Given the description of an element on the screen output the (x, y) to click on. 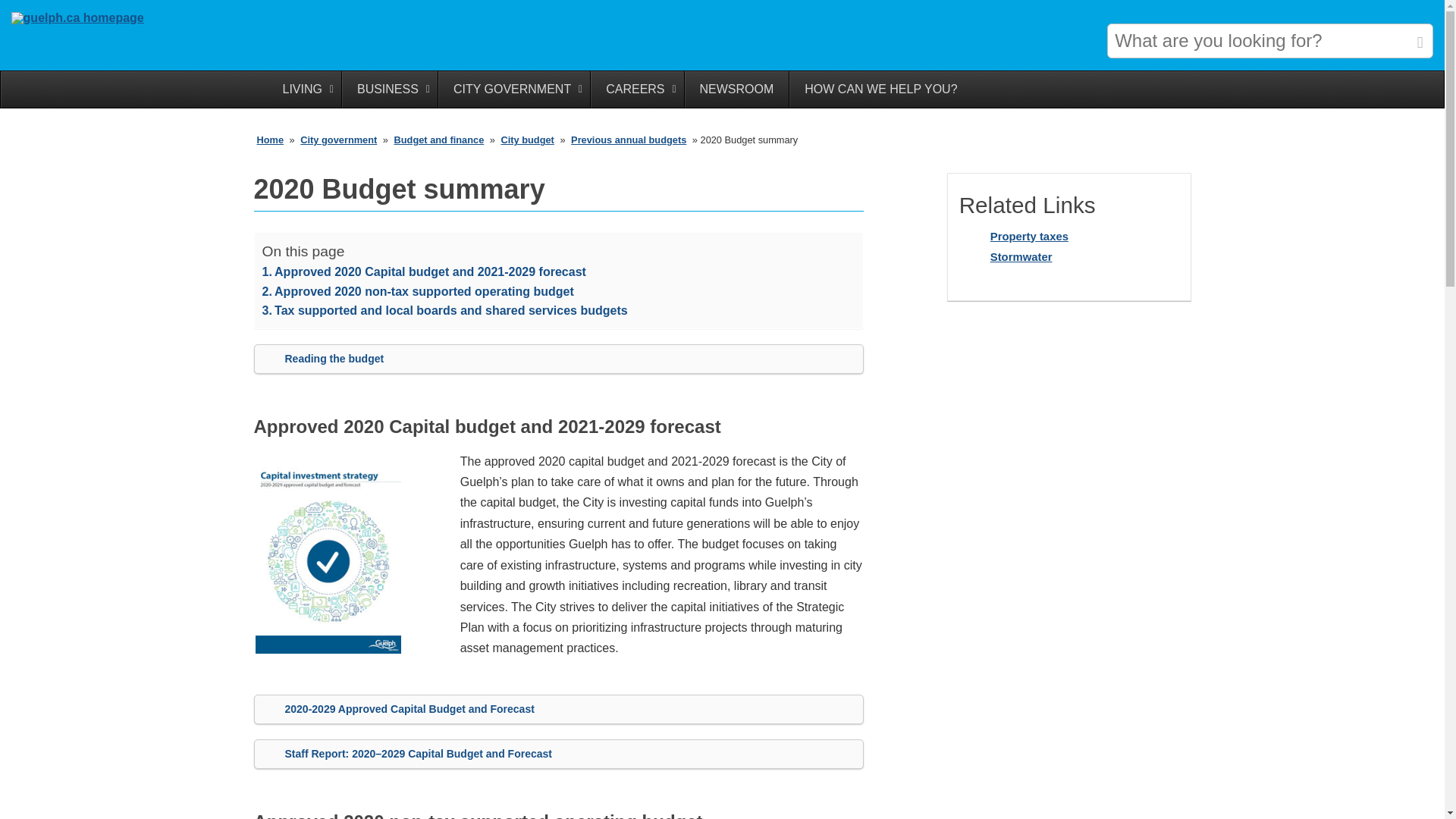
Approved 2020 Capital budget and 2021-2029 forecast (424, 271)
Tax supported and local boards and shared services budgets (444, 311)
LIVING (303, 89)
Approved 2020 non-tax supported operating budget (417, 291)
City of Guelph (77, 17)
Submit (1420, 39)
